Given the description of an element on the screen output the (x, y) to click on. 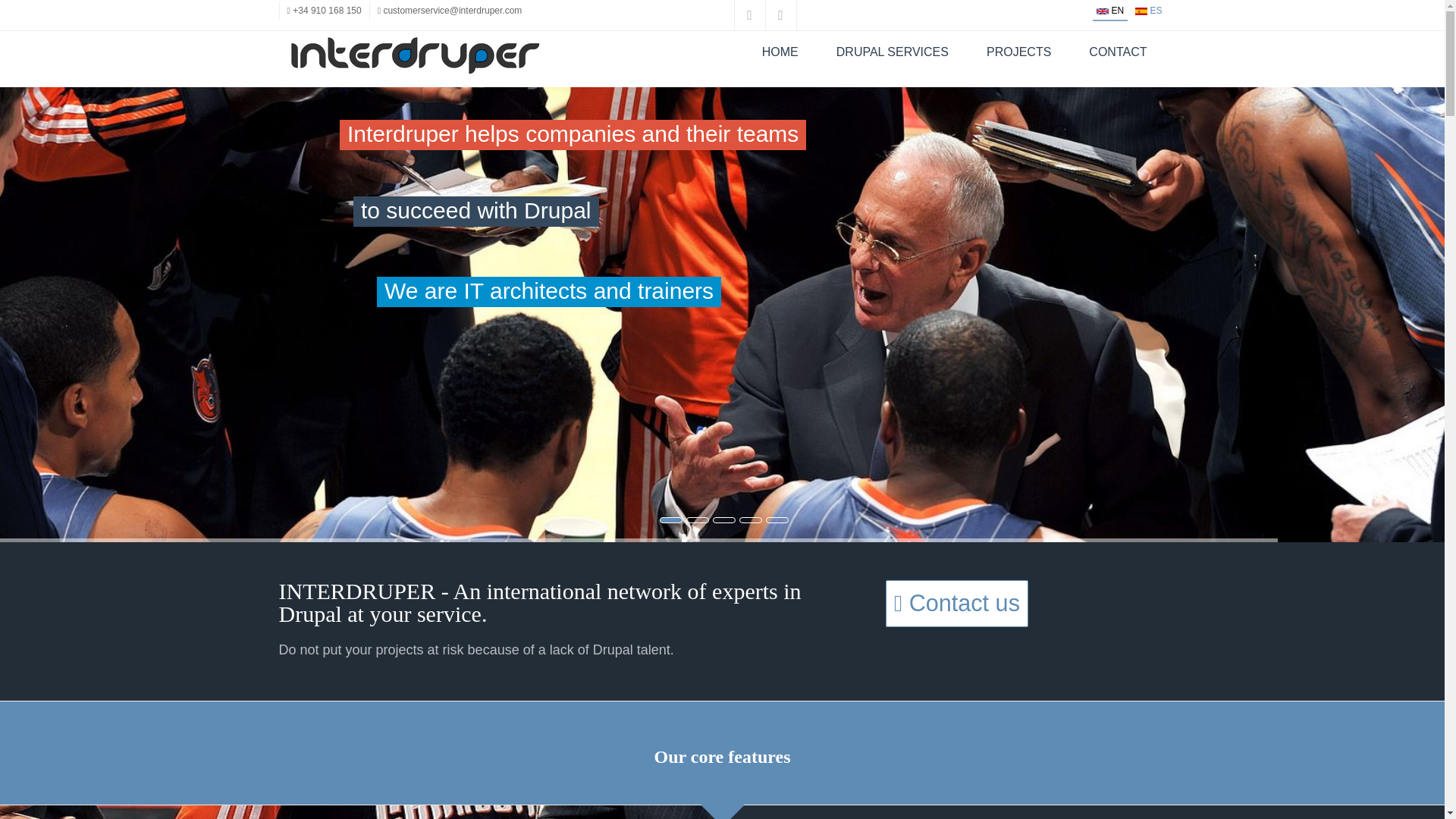
ES (1148, 9)
Contact us (954, 603)
CONTACT (1117, 51)
EN (1110, 9)
PROJECTS (1018, 51)
DRUPAL SERVICES (892, 51)
ES (1141, 11)
HOME (779, 51)
EN (1102, 11)
